Given the description of an element on the screen output the (x, y) to click on. 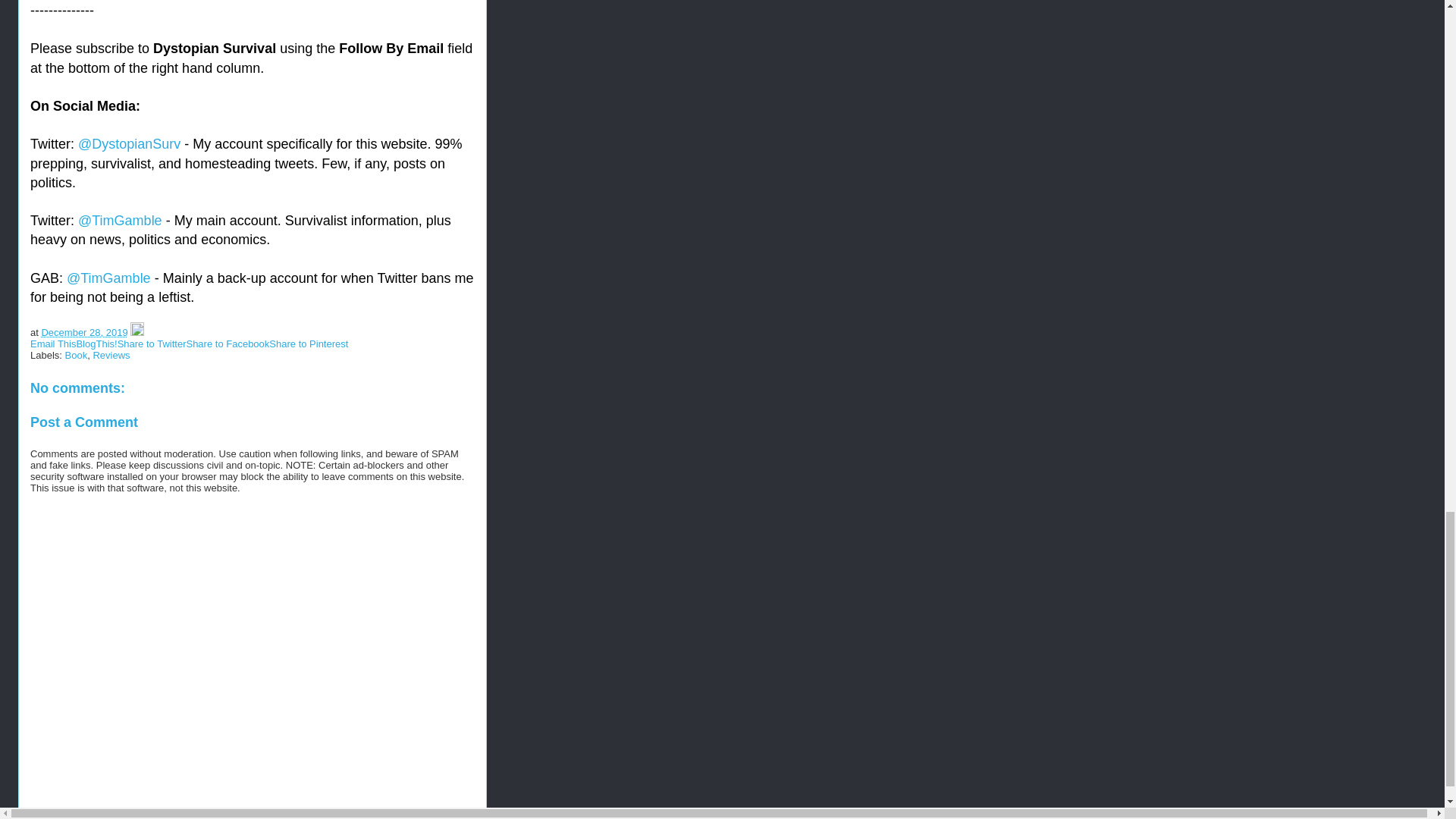
Email This (52, 343)
Book (76, 355)
Share to Pinterest (308, 343)
December 28, 2019 (84, 332)
Edit Post (137, 332)
Share to Twitter (151, 343)
Share to Twitter (151, 343)
Share to Facebook (227, 343)
Reviews (111, 355)
Share to Facebook (227, 343)
